Given the description of an element on the screen output the (x, y) to click on. 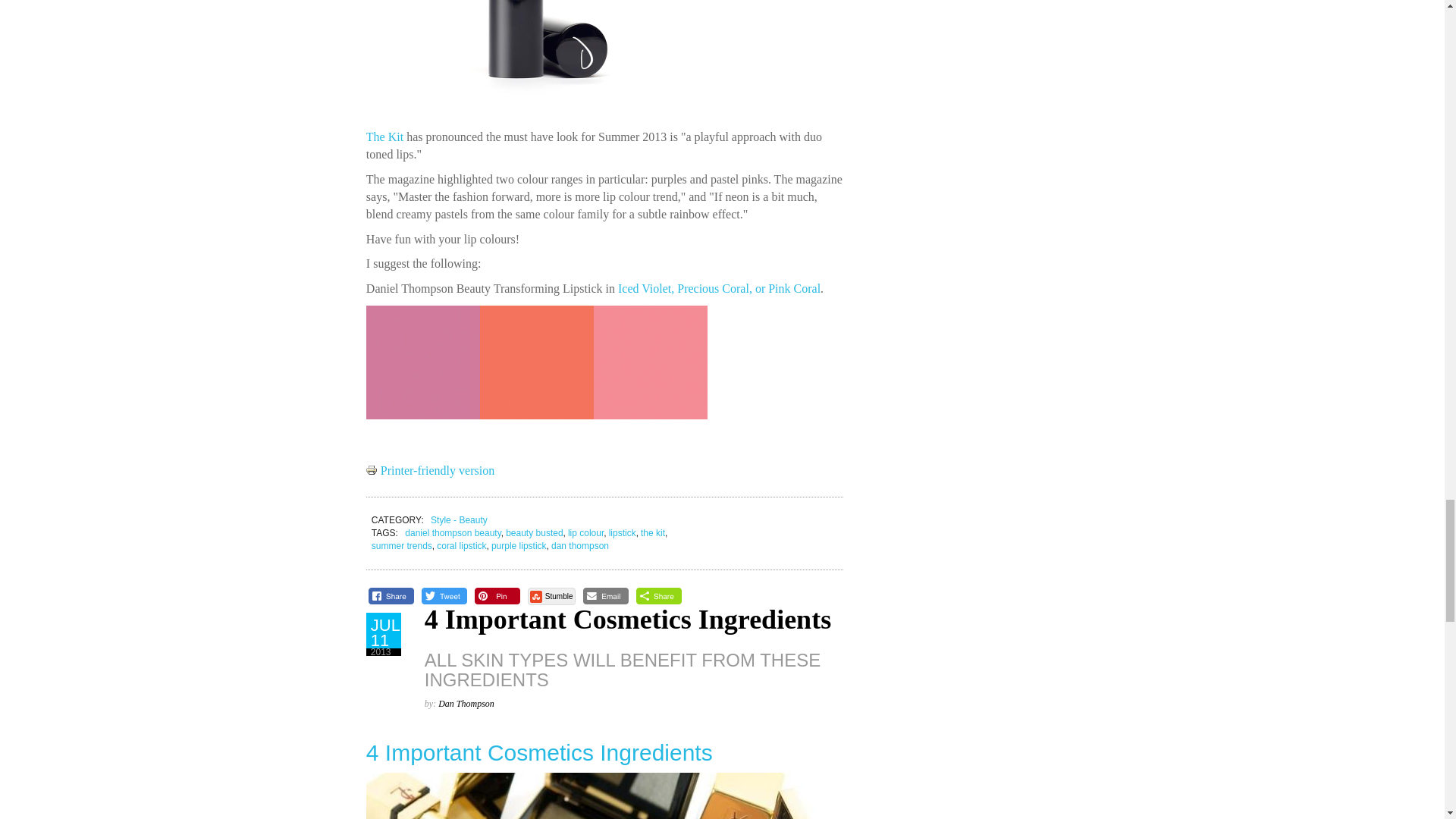
Display a printer-friendly version of this page. (430, 470)
